Given the description of an element on the screen output the (x, y) to click on. 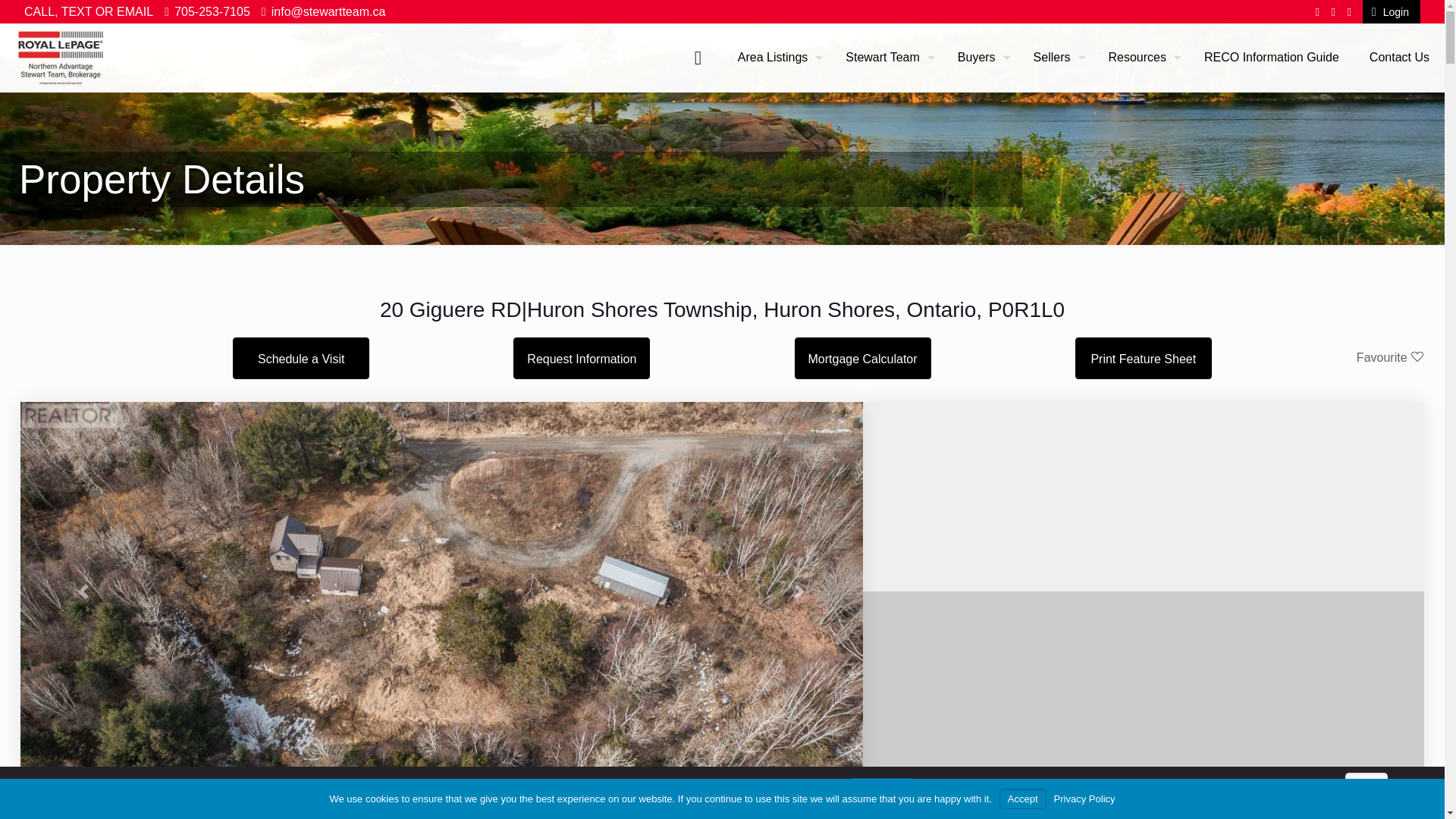
stewartteam.ca (60, 57)
705-253-7105 (212, 11)
Area Listings (776, 57)
RECO Information Guide (1271, 57)
Sellers (1055, 57)
Login (1388, 11)
Stewart Team (885, 57)
Facebook (1317, 11)
Resources (1141, 57)
Buyers (979, 57)
YouTube (1333, 11)
Previous (83, 591)
Instagram (1349, 11)
Next (799, 591)
